Given the description of an element on the screen output the (x, y) to click on. 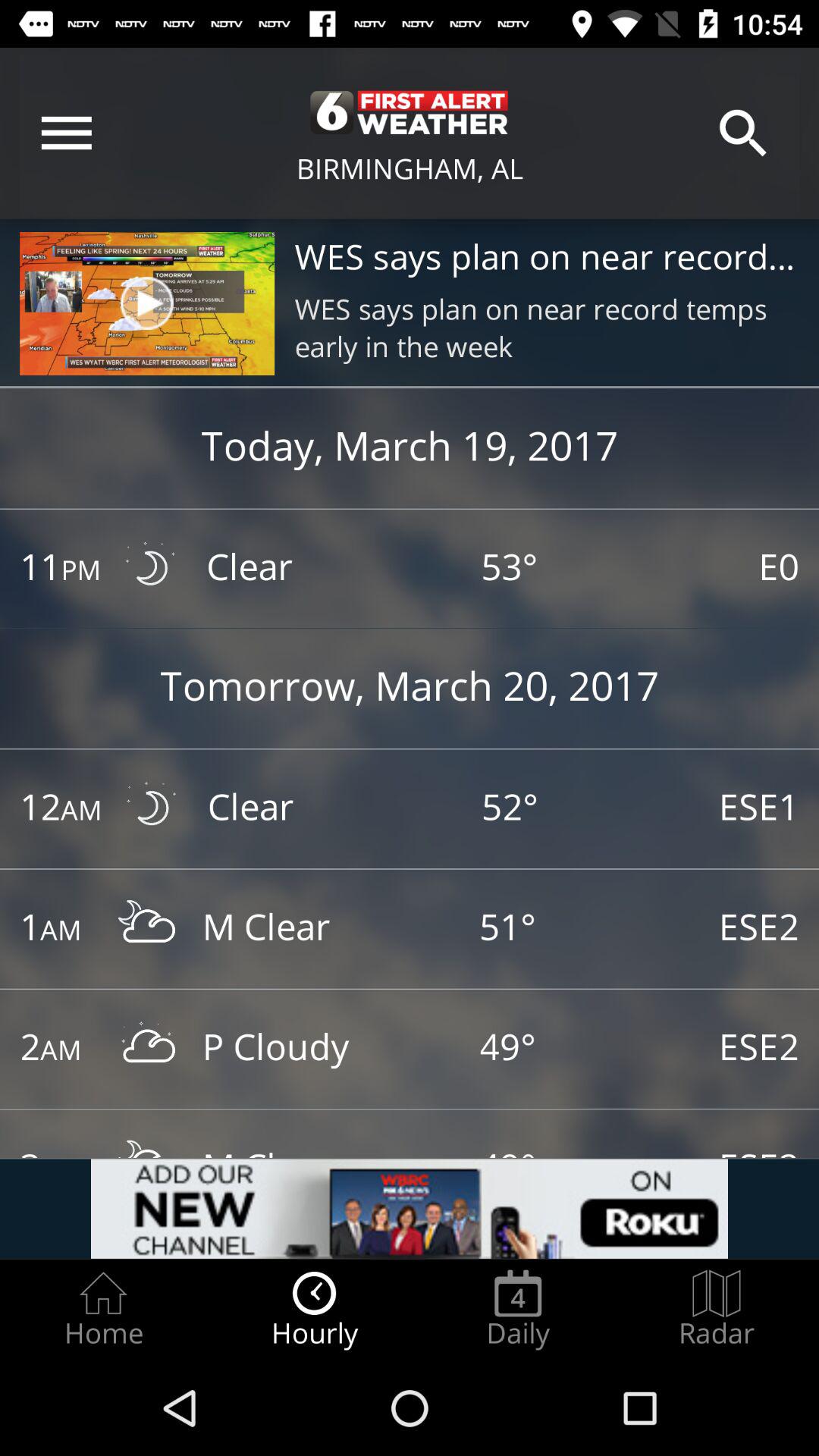
turn off the radio button next to daily radio button (716, 1309)
